Given the description of an element on the screen output the (x, y) to click on. 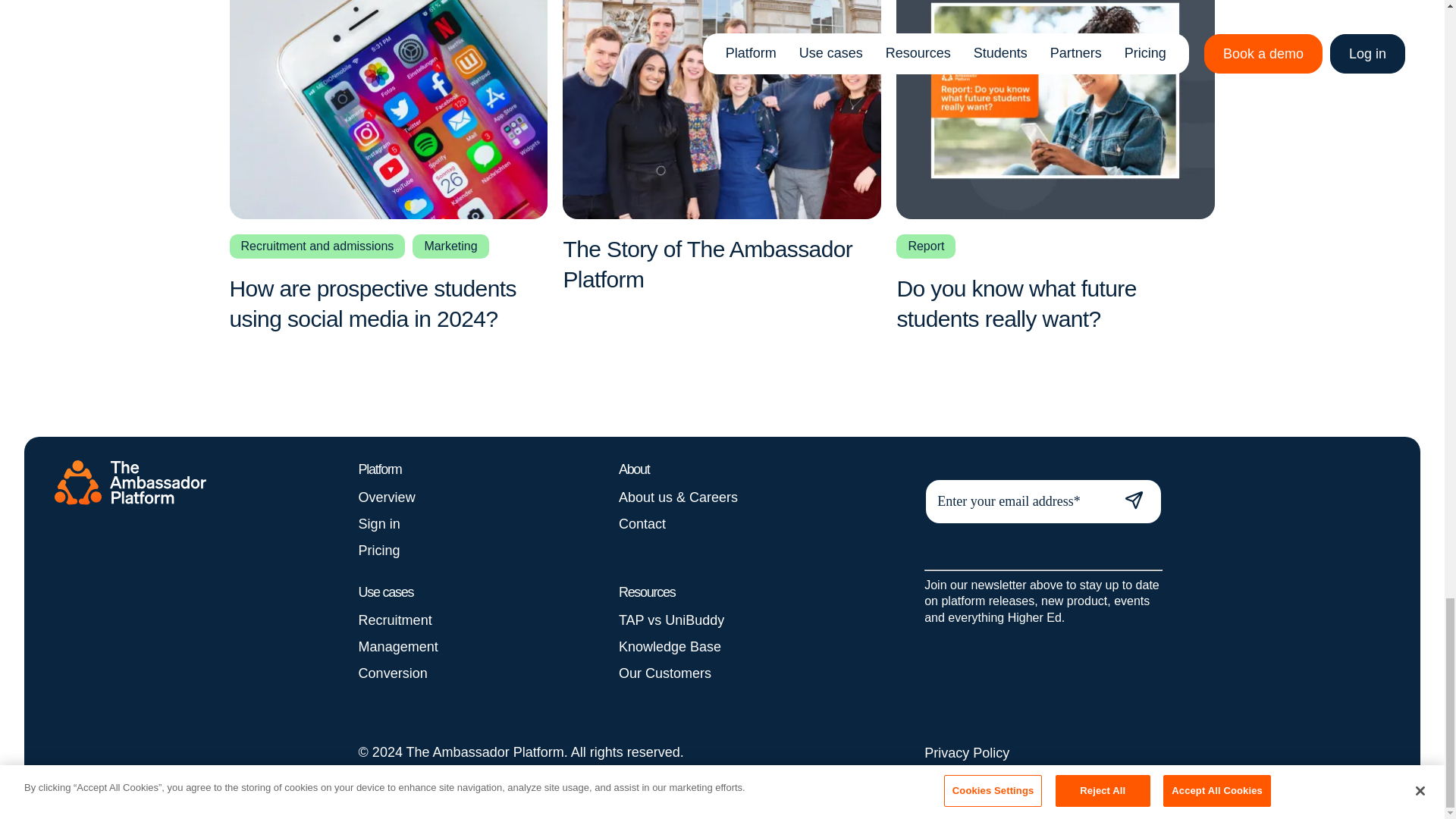
Submit (1133, 499)
